Given the description of an element on the screen output the (x, y) to click on. 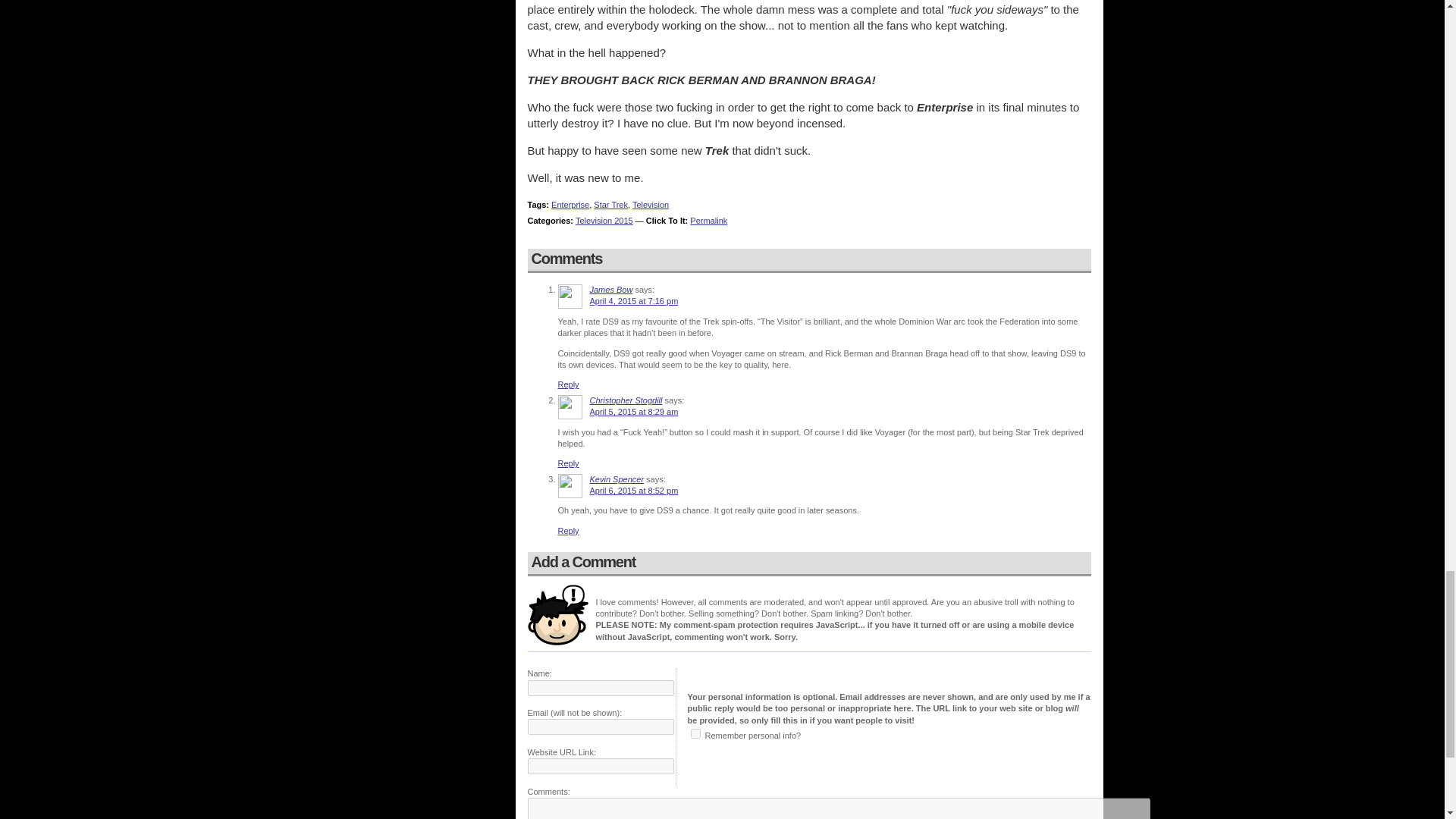
Television 2015 (604, 220)
Permalink (708, 220)
April 4, 2015 at 7:16 pm (633, 300)
Reply (568, 384)
Kevin Spencer (617, 479)
James Bow (611, 289)
Reply (568, 462)
1 (695, 733)
Reply (568, 530)
April 5, 2015 at 8:29 am (633, 411)
